Given the description of an element on the screen output the (x, y) to click on. 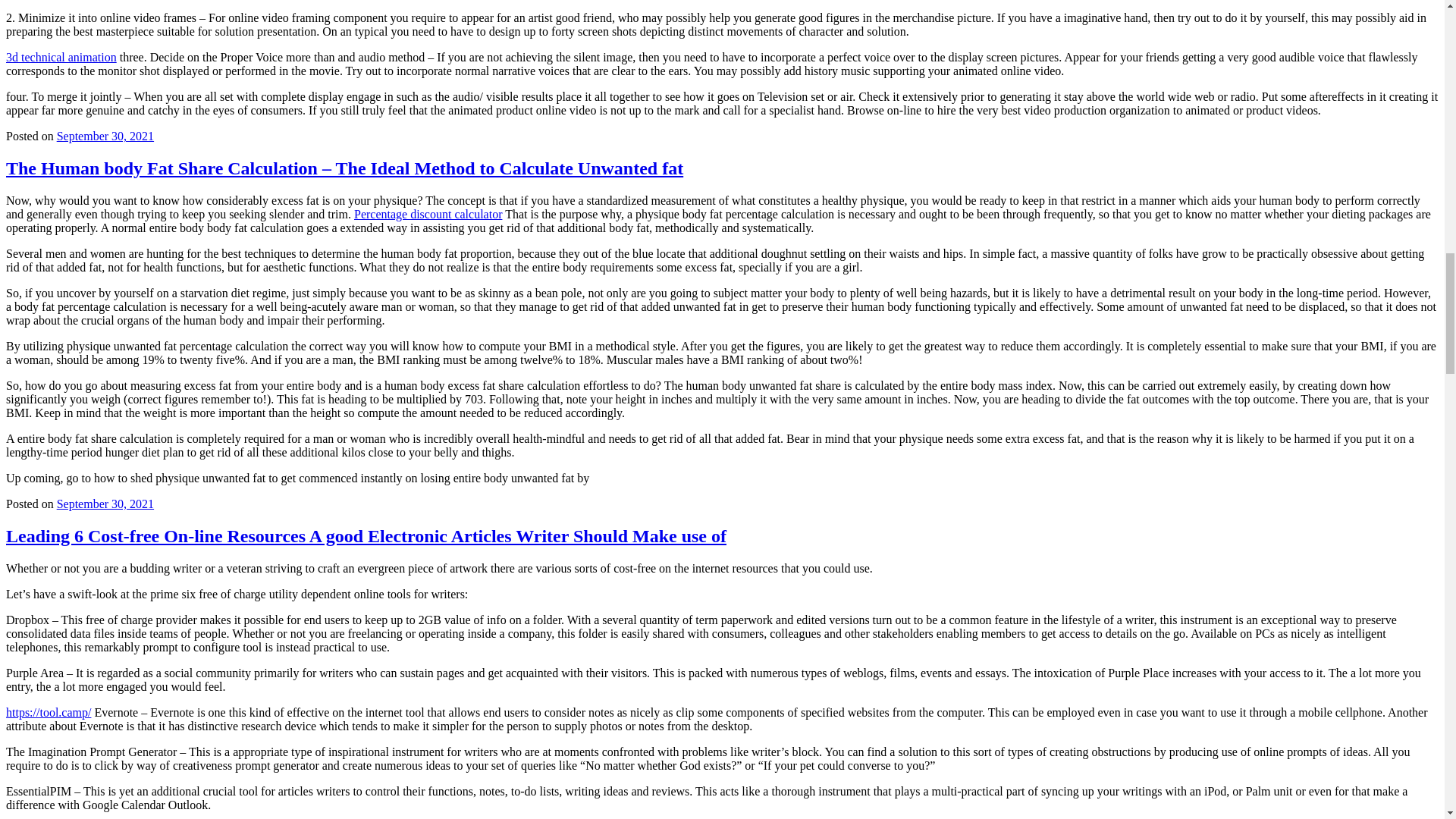
Percentage discount calculator (427, 214)
September 30, 2021 (105, 503)
3d technical animation (60, 56)
September 30, 2021 (105, 135)
